Given the description of an element on the screen output the (x, y) to click on. 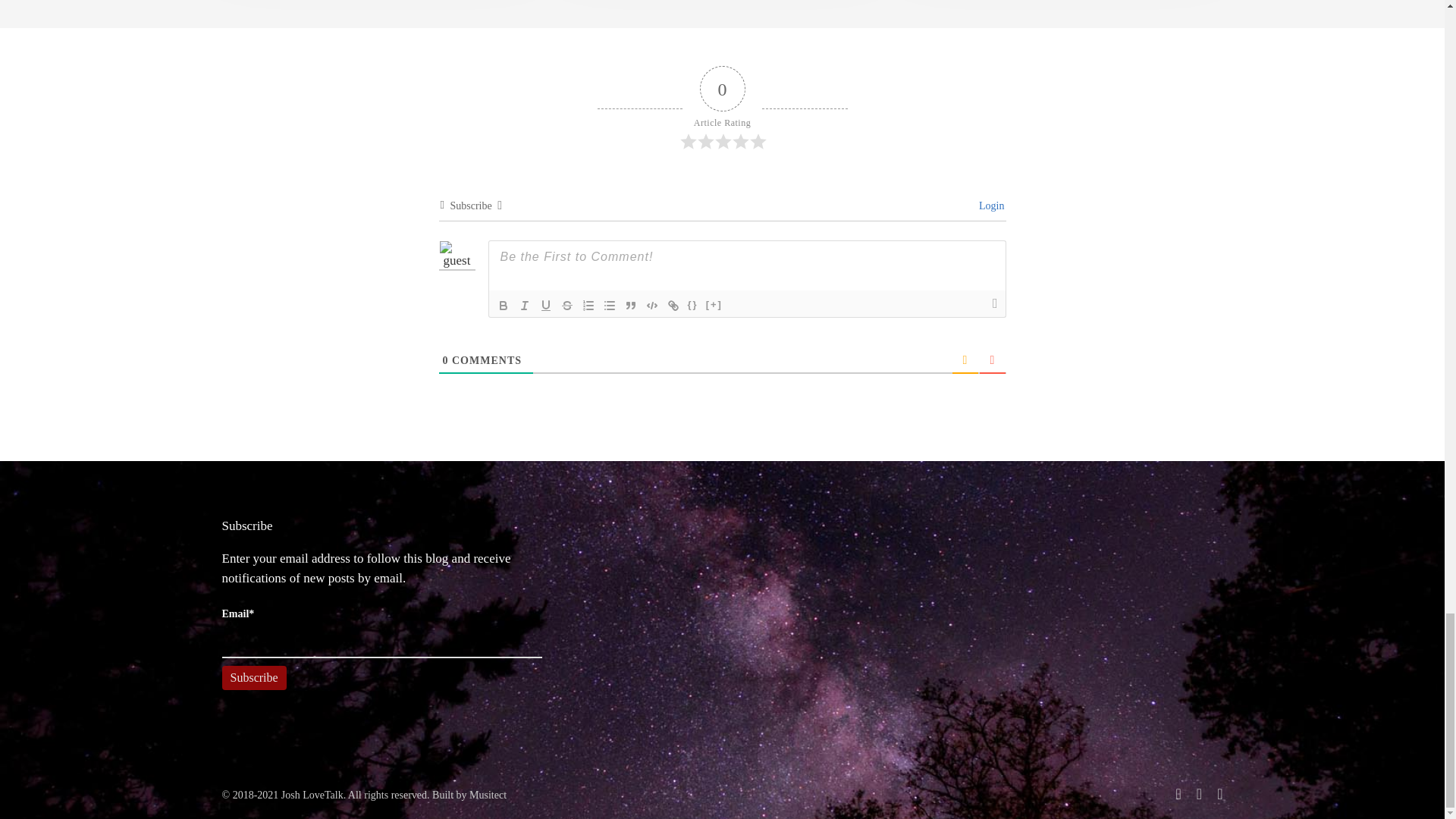
Underline (545, 305)
Unordered List (609, 305)
Strike (567, 305)
Bold (503, 305)
Blockquote (631, 305)
Subscribe (253, 677)
Italic (524, 305)
Ordered List (588, 305)
